Given the description of an element on the screen output the (x, y) to click on. 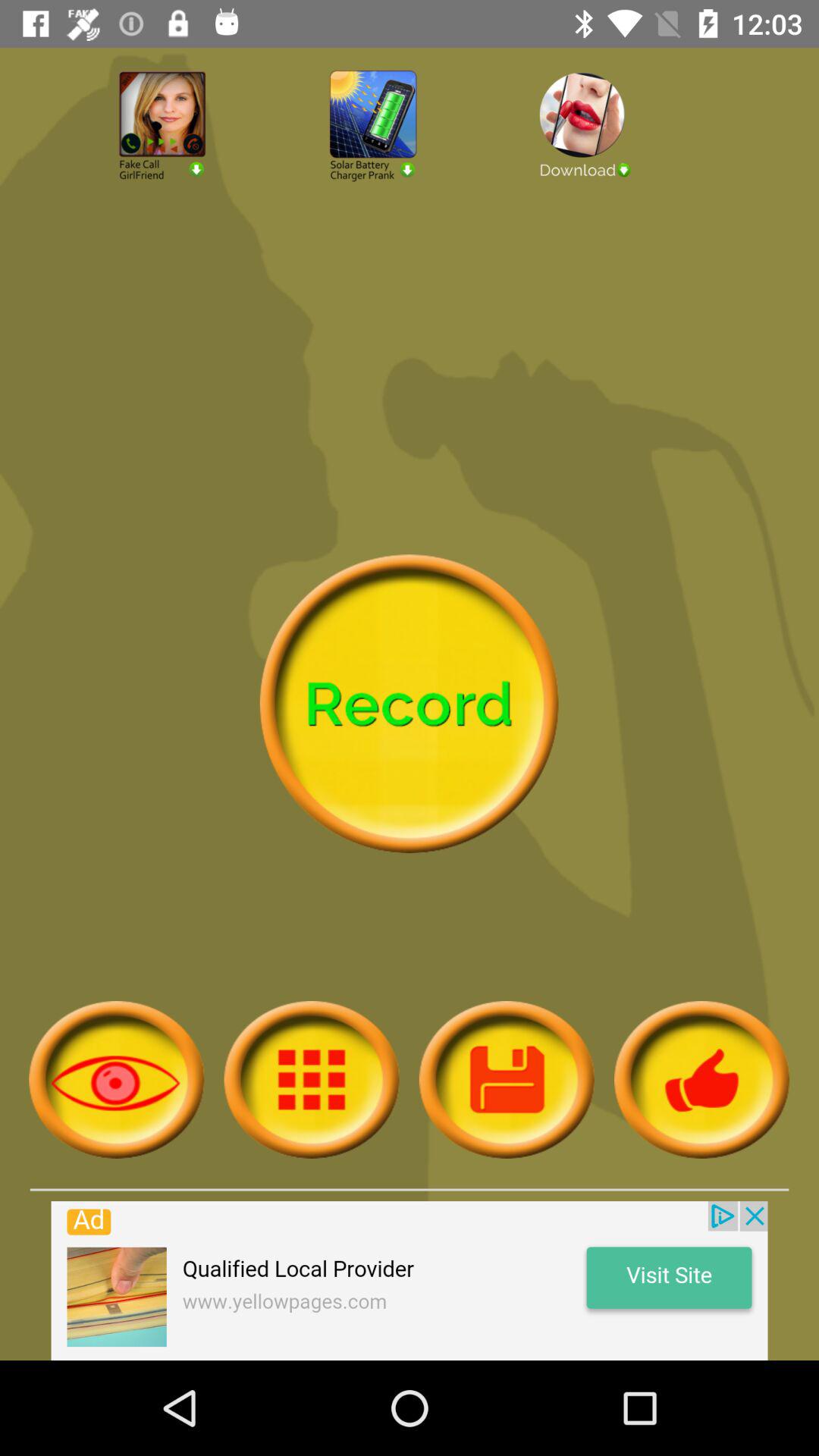
record option (408, 703)
